Given the description of an element on the screen output the (x, y) to click on. 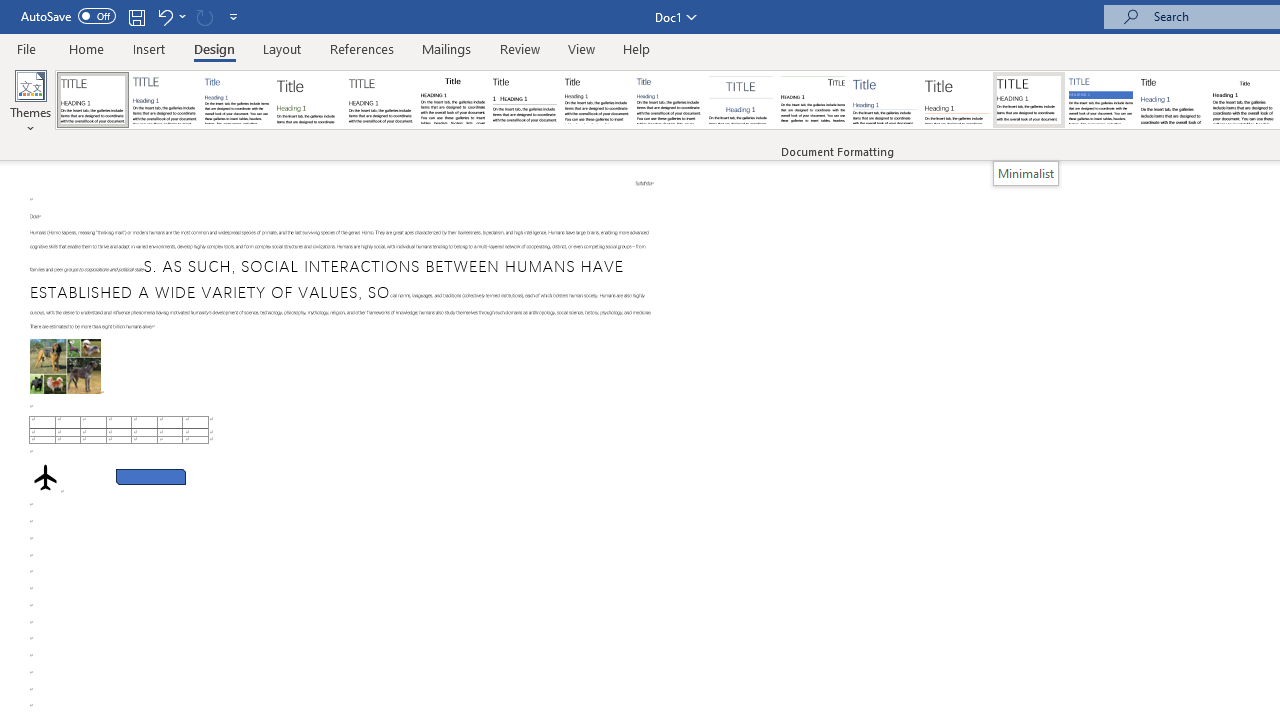
Morphological variation in six dogs (65, 366)
Minimalist (1028, 100)
Black & White (Classic) (452, 100)
Casual (669, 100)
Lines (Distinctive) (812, 100)
Basic (Elegant) (164, 100)
Document (93, 100)
Centered (740, 100)
Basic (Stylish) (308, 100)
